Given the description of an element on the screen output the (x, y) to click on. 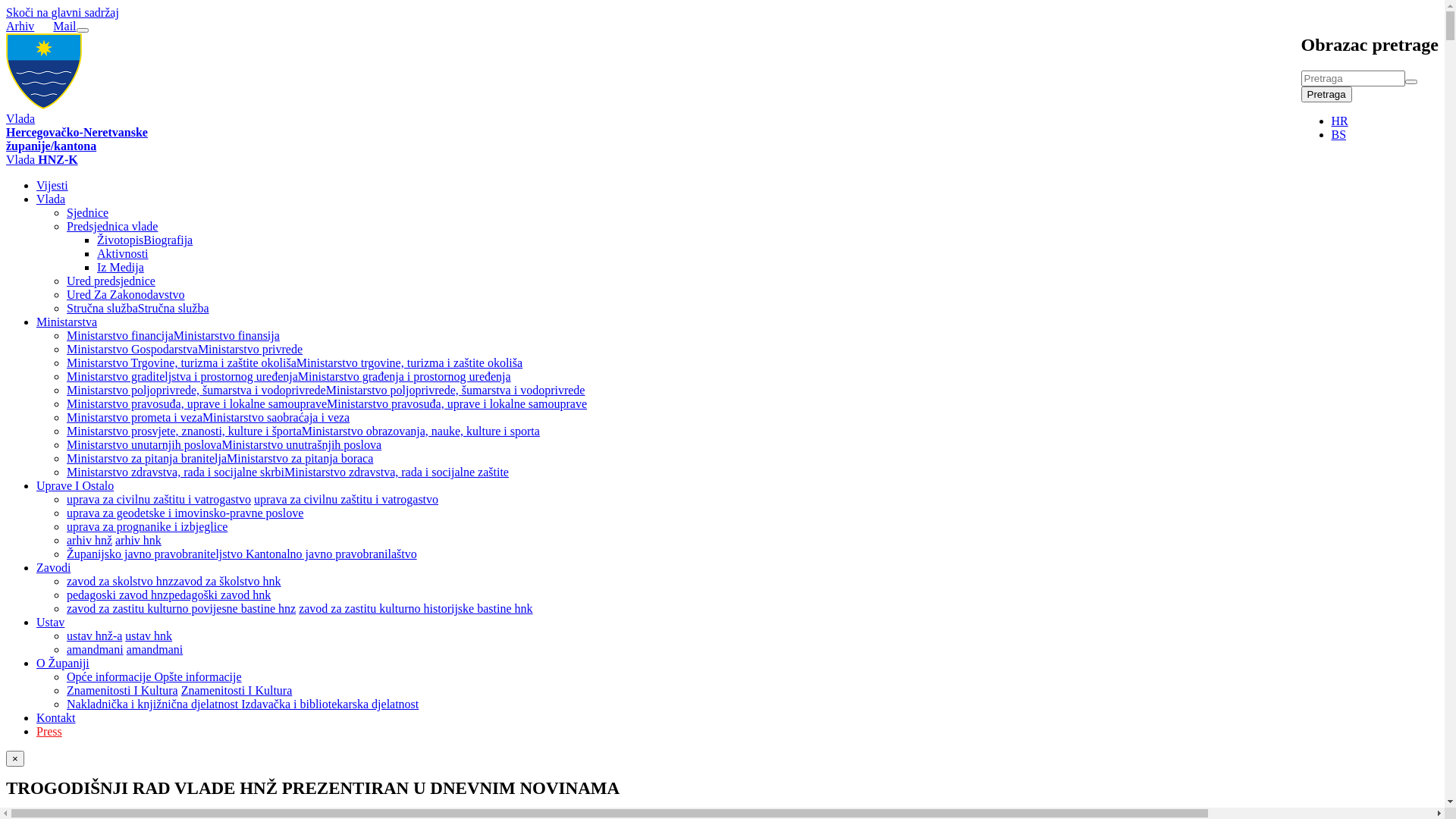
Ministarstvo financija Element type: text (119, 335)
Arhiv Element type: text (20, 25)
HR Element type: text (1339, 120)
amandmani Element type: text (94, 649)
Ministarstvo zdravstva, rada i socijalne skrbi Element type: text (175, 471)
uprava za prognanike i izbjeglice Element type: text (146, 526)
Ministarstvo obrazovanja, nauke, kulture i sporta Element type: text (420, 430)
zavod za zastitu kulturno historijske bastine hnk Element type: text (415, 608)
Ministarstvo za pitanja branitelja Element type: text (146, 457)
zavod za zastitu kulturno povijesne bastine hnz Element type: text (180, 608)
Aktivnosti Element type: text (122, 253)
Znamenitosti I Kultura Element type: text (122, 690)
Biografija Element type: text (167, 239)
Ministarstvo Gospodarstva Element type: text (131, 348)
Kontakt Element type: text (55, 717)
Pretraga Element type: text (1326, 94)
Iz Medija Element type: text (120, 266)
Predsjednica vlade Element type: text (111, 225)
Zavodi Element type: text (53, 567)
pedagoski zavod hnz Element type: text (117, 594)
zavod za skolstvo hnz Element type: text (119, 580)
arhiv hnk Element type: text (138, 539)
Ustav Element type: text (50, 621)
Ministarstvo prometa i veza Element type: text (134, 417)
Znamenitosti I Kultura Element type: text (236, 690)
Mail Element type: text (64, 25)
Uprave I Ostalo Element type: text (74, 485)
Sjednice Element type: text (87, 212)
amandmani Element type: text (154, 649)
Ministarstvo finansija Element type: text (226, 335)
BS Element type: text (1338, 134)
Press Element type: text (49, 730)
Ministarstvo privrede Element type: text (249, 348)
ustav hnk Element type: text (148, 635)
uprava za geodetske i imovinsko-pravne poslove Element type: text (184, 512)
Ured Za Zakonodavstvo Element type: text (125, 294)
Ministarstvo unutarnjih poslova Element type: text (143, 444)
Ministarstva Element type: text (66, 321)
Ministarstvo za pitanja boraca Element type: text (299, 457)
Vlada Element type: text (50, 198)
Vijesti Element type: text (52, 184)
Ured predsjednice Element type: text (110, 280)
